Given the description of an element on the screen output the (x, y) to click on. 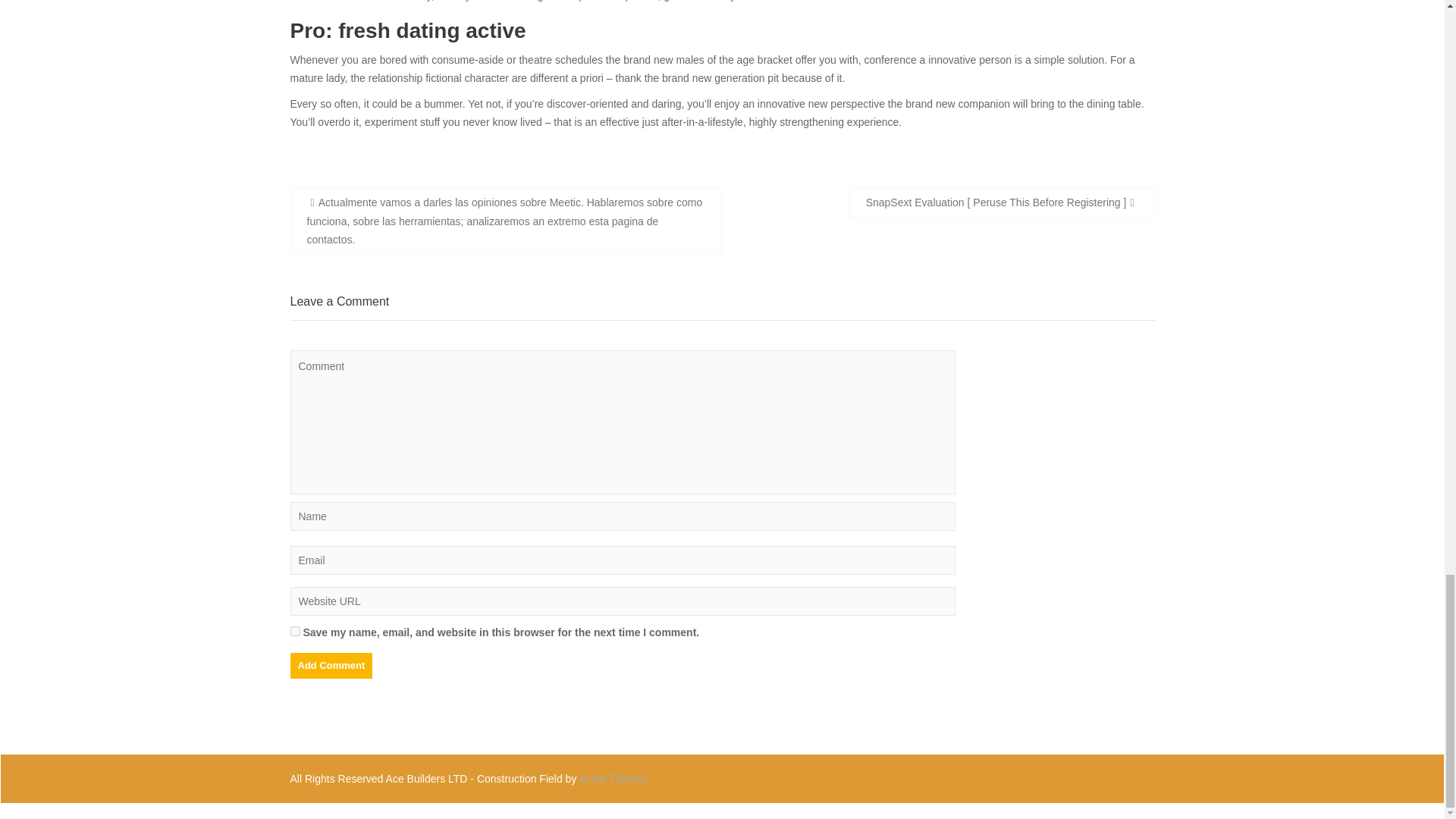
Add Comment (330, 664)
Acme Themes (613, 777)
Add Comment (330, 664)
yes (294, 631)
